Given the description of an element on the screen output the (x, y) to click on. 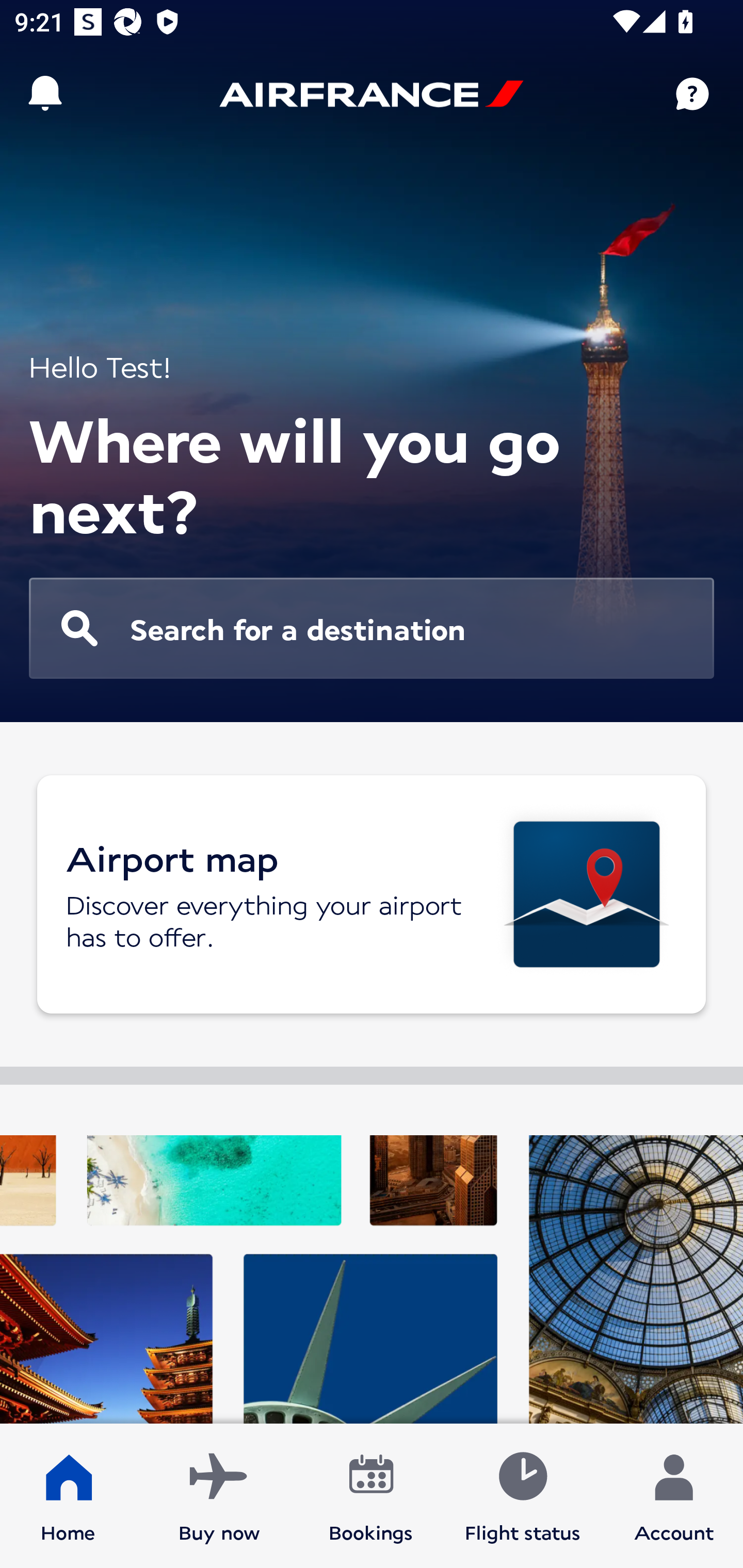
Search for a destination (371, 627)
Buy now (219, 1495)
Bookings (370, 1495)
Flight status (522, 1495)
Account (674, 1495)
